Given the description of an element on the screen output the (x, y) to click on. 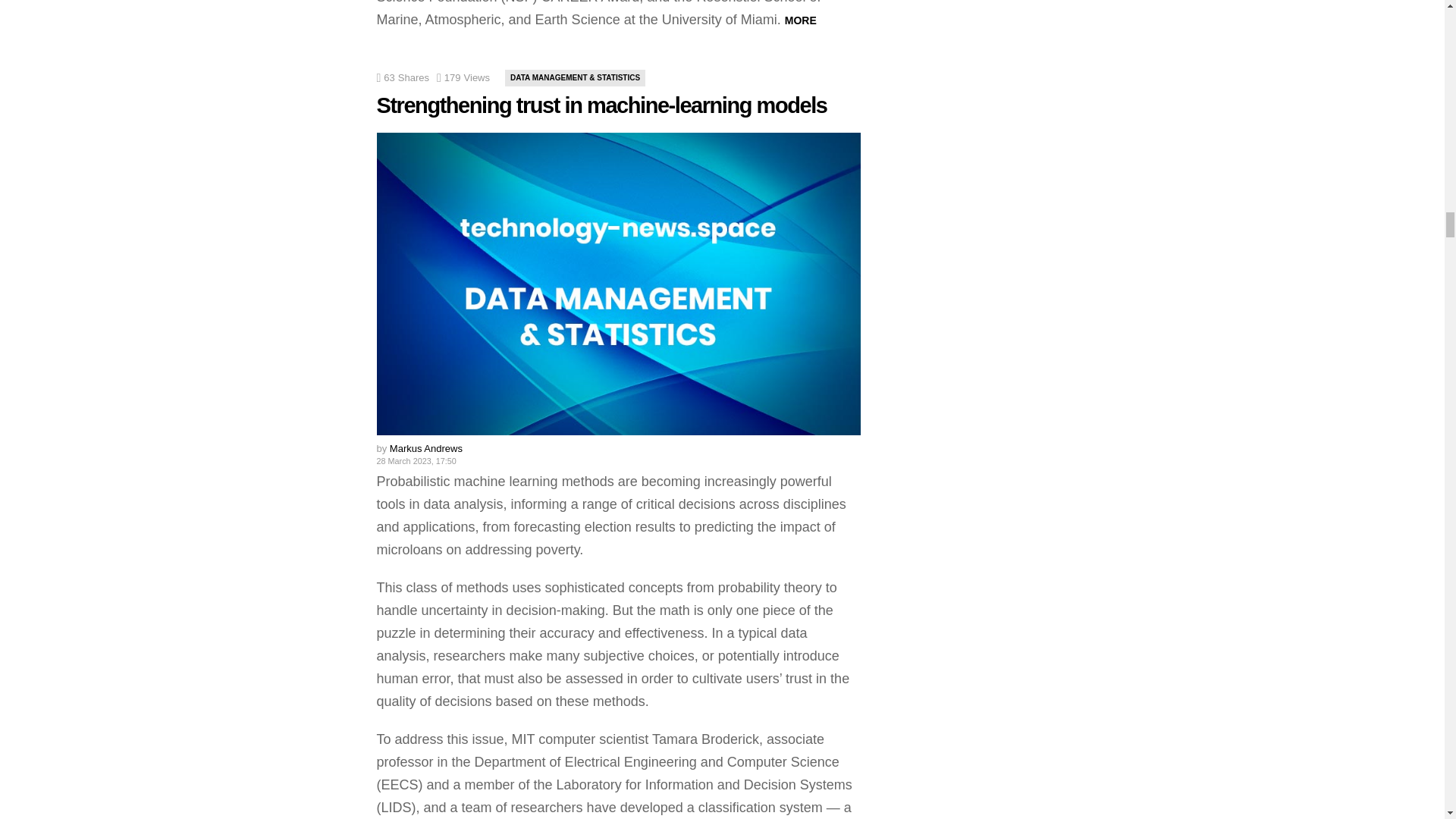
Posts by Markus Andrews (426, 448)
